Given the description of an element on the screen output the (x, y) to click on. 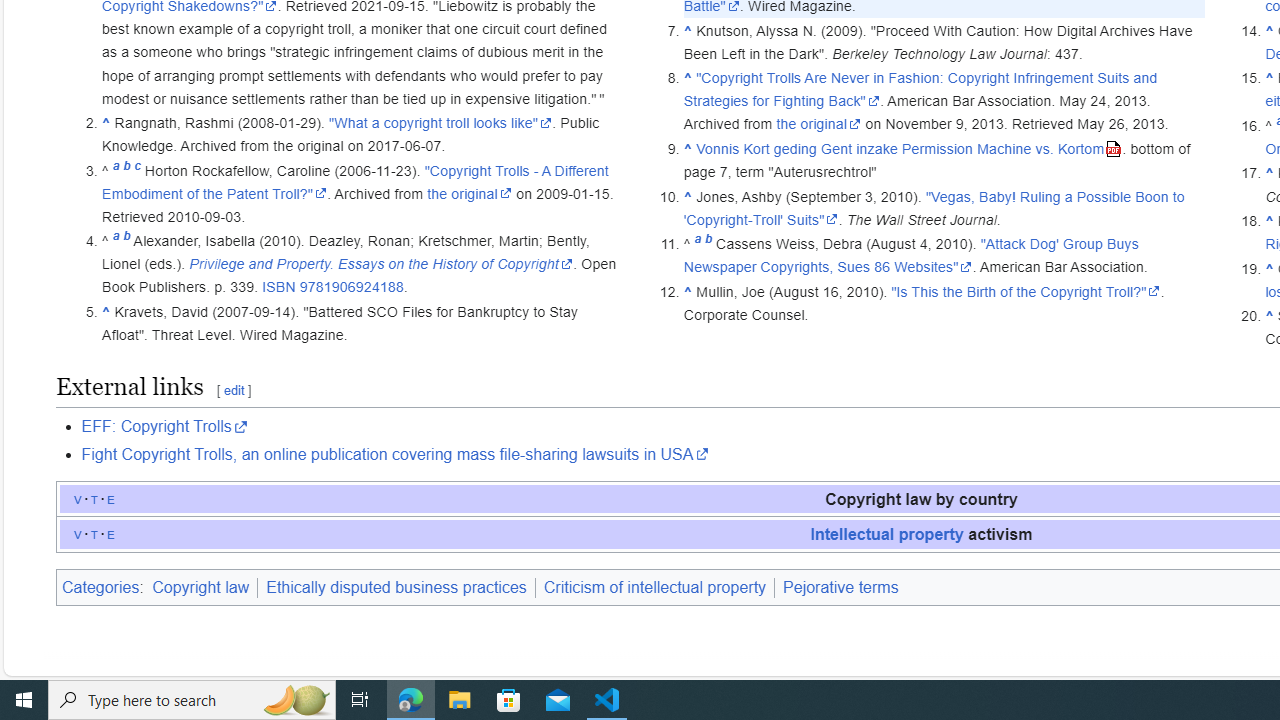
"Is This the Birth of the Copyright Troll?" (1025, 291)
b (707, 244)
Ethically disputed business practices (396, 587)
Jump up (1268, 316)
Jump up to: a (697, 244)
Criticism of intellectual property (653, 587)
e (111, 533)
